Given the description of an element on the screen output the (x, y) to click on. 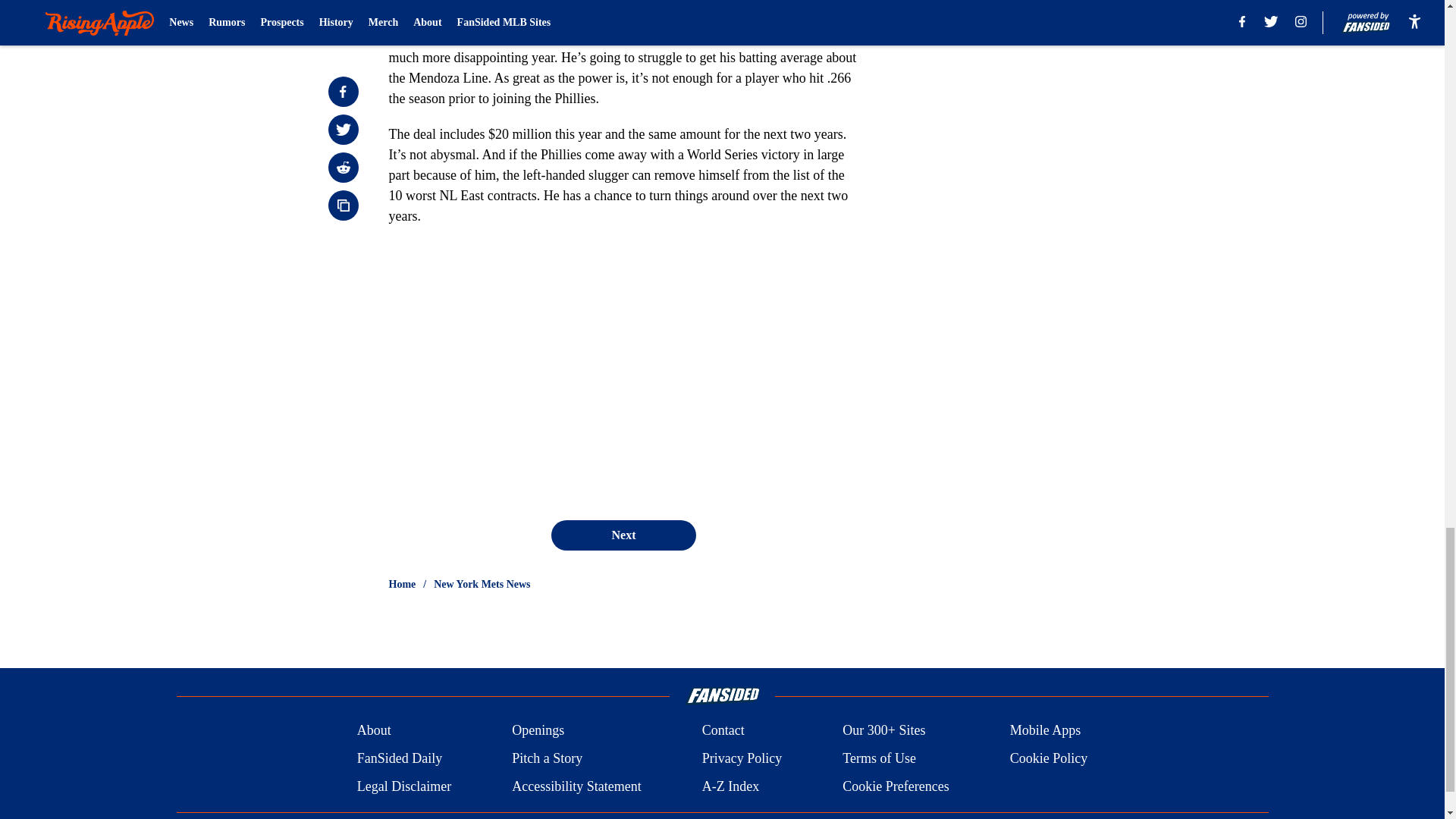
Privacy Policy (742, 758)
Openings (538, 730)
Mobile Apps (1045, 730)
Cookie Policy (1048, 758)
Terms of Use (879, 758)
About (373, 730)
New York Mets News (481, 584)
Home (401, 584)
Next (622, 535)
Accessibility Statement (576, 786)
